Given the description of an element on the screen output the (x, y) to click on. 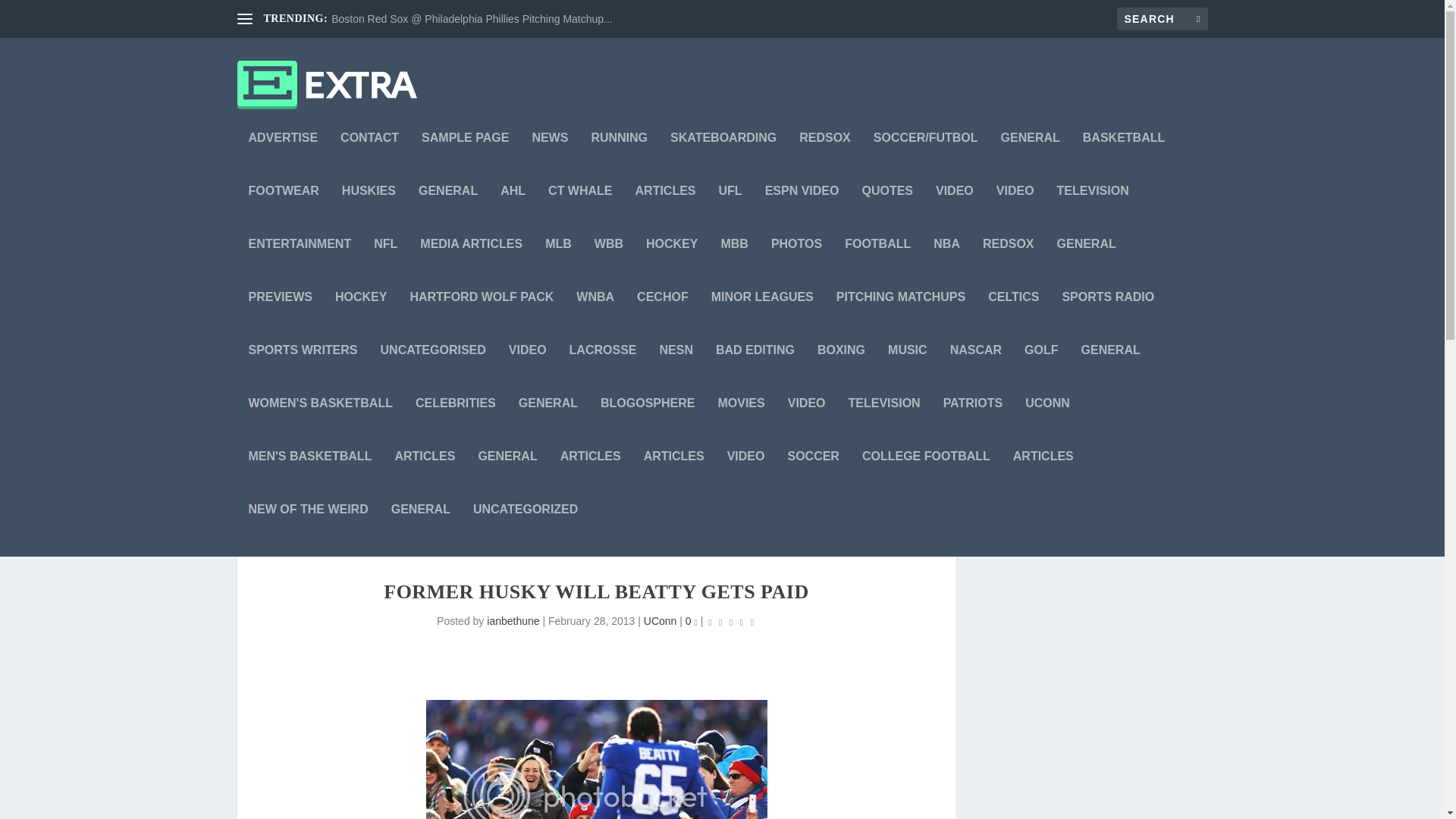
Search for: (1161, 18)
FOOTWEAR (283, 211)
CT WHALE (579, 211)
Rating: 0.00 (730, 621)
QUOTES (886, 211)
NFL (385, 264)
SAMPLE PAGE (465, 158)
ESPN VIDEO (802, 211)
BASKETBALL (1123, 158)
RUNNING (619, 158)
VIDEO (955, 211)
ENTERTAINMENT (300, 264)
AHL (512, 211)
REDSOX (824, 158)
CONTACT (369, 158)
